Given the description of an element on the screen output the (x, y) to click on. 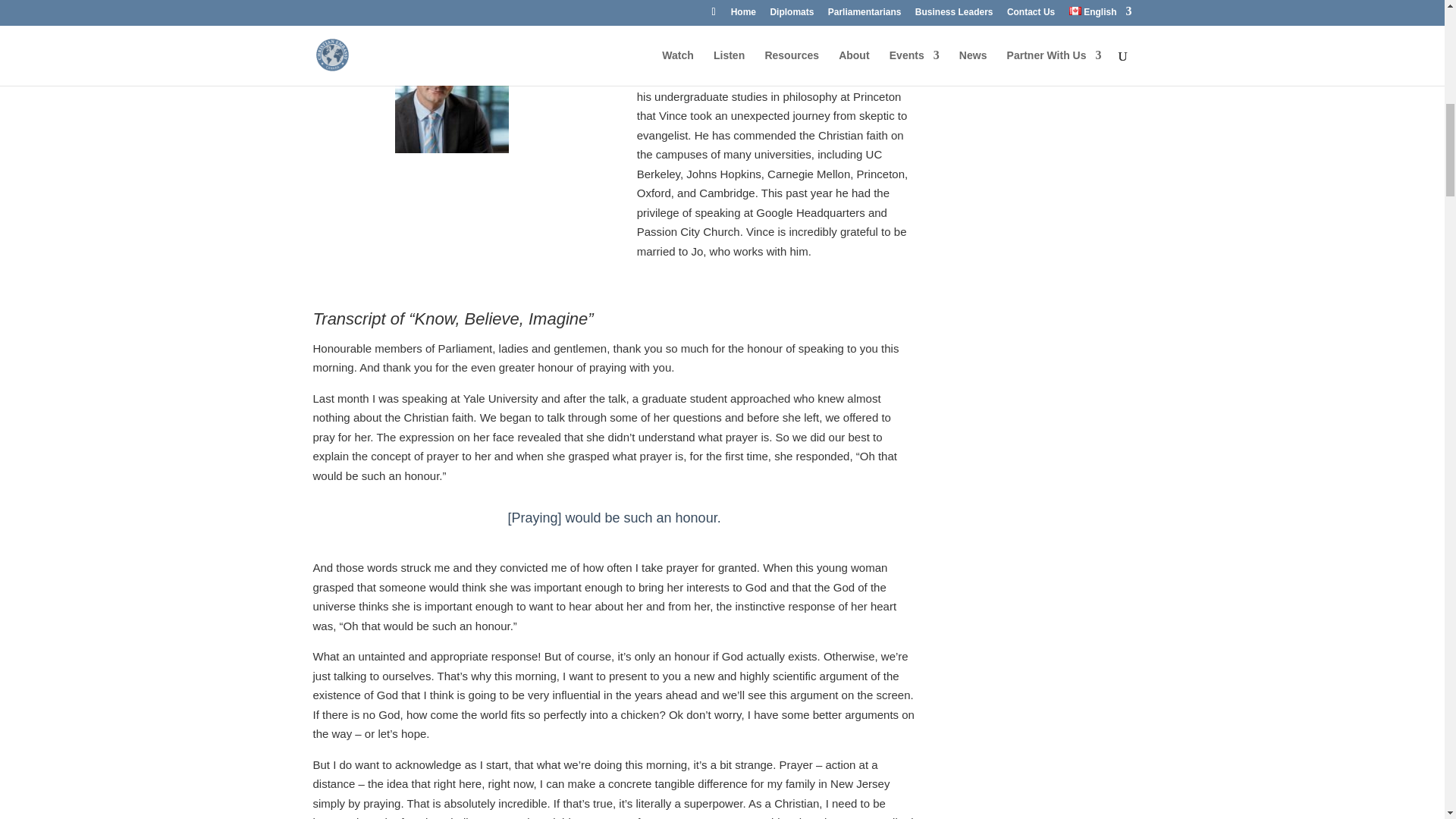
Vince Vitale Photo (451, 96)
